Given the description of an element on the screen output the (x, y) to click on. 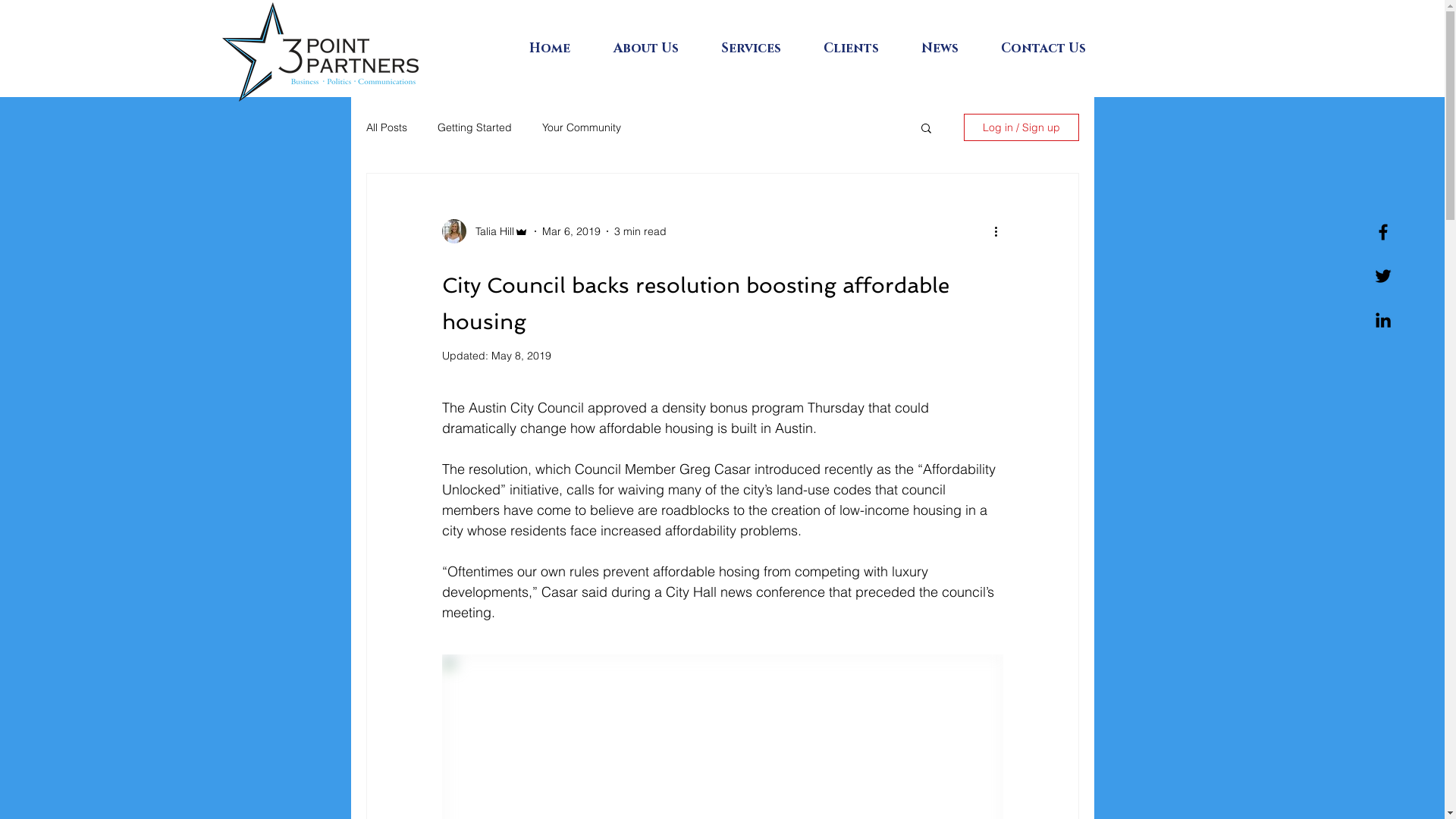
Home Element type: text (559, 48)
Your Community Element type: text (580, 127)
News Element type: text (949, 48)
About Us Element type: text (655, 48)
Getting Started Element type: text (473, 127)
Clients Element type: text (860, 48)
Contact Us Element type: text (1052, 48)
Log in / Sign up Element type: text (1020, 127)
Services Element type: text (760, 48)
All Posts Element type: text (385, 127)
